Given the description of an element on the screen output the (x, y) to click on. 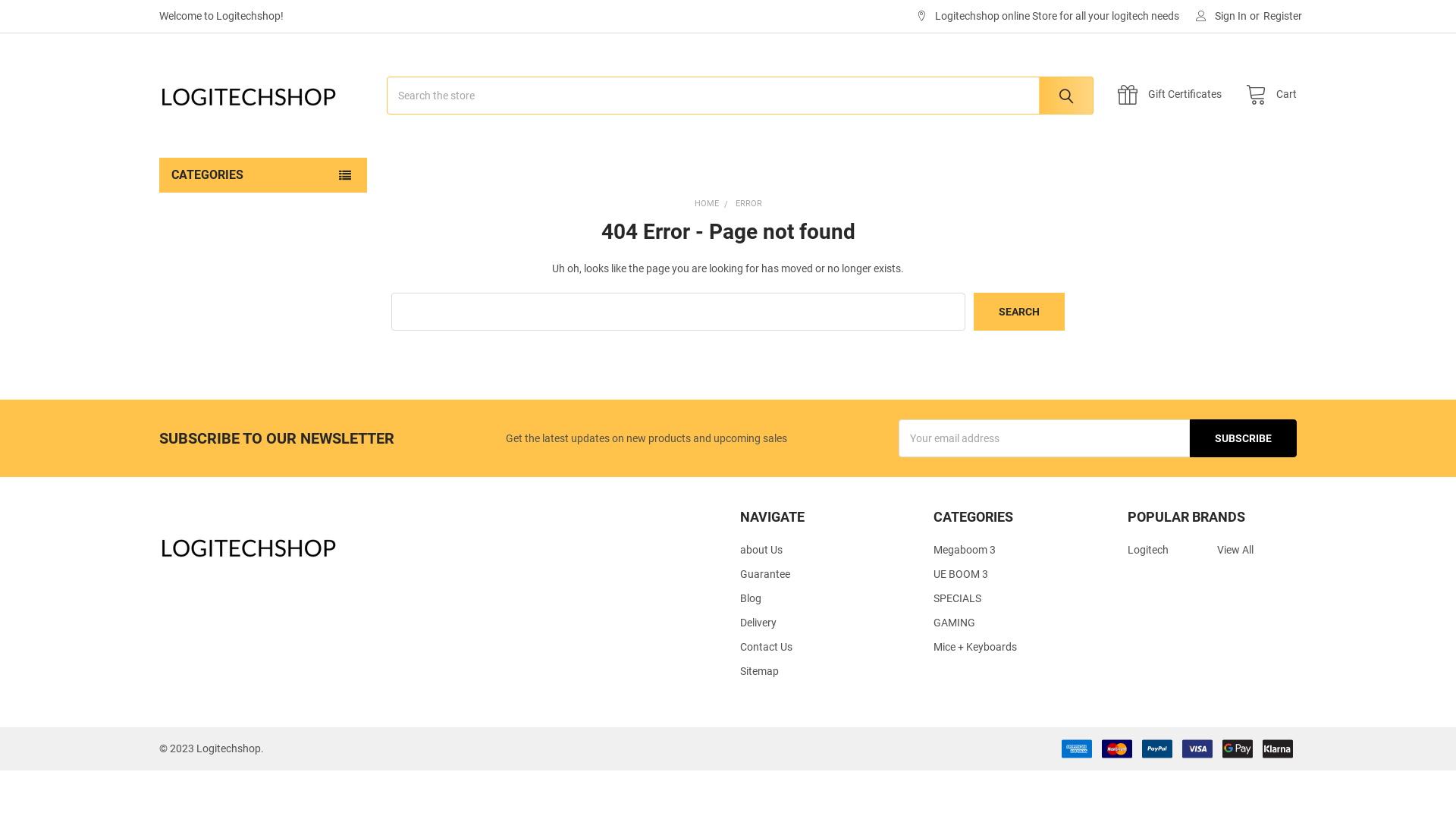
Search Element type: text (1018, 311)
Megaboom 3 Element type: text (964, 549)
Blog Element type: text (750, 598)
UE BOOM 3 Element type: text (960, 573)
LOGITECHSHOP Element type: hover (253, 95)
about Us Element type: text (761, 549)
Top of Page Element type: hover (1428, 693)
Sign In Element type: text (1221, 16)
Sitemap Element type: text (759, 671)
Search Element type: text (1062, 95)
HOME Element type: text (706, 203)
Gift Certificates Element type: text (1173, 94)
Register Element type: text (1282, 16)
Guarantee Element type: text (765, 573)
Logitech Element type: text (1147, 549)
LOGITECHSHOP Element type: hover (253, 546)
Delivery Element type: text (758, 622)
SPECIALS Element type: text (957, 598)
Subscribe Element type: text (1242, 438)
View All Element type: text (1235, 549)
Cart Element type: text (1266, 94)
ERROR Element type: text (748, 203)
CATEGORIES Element type: text (263, 174)
GAMING Element type: text (954, 622)
Contact Us Element type: text (766, 646)
Mice + Keyboards Element type: text (974, 646)
